Given the description of an element on the screen output the (x, y) to click on. 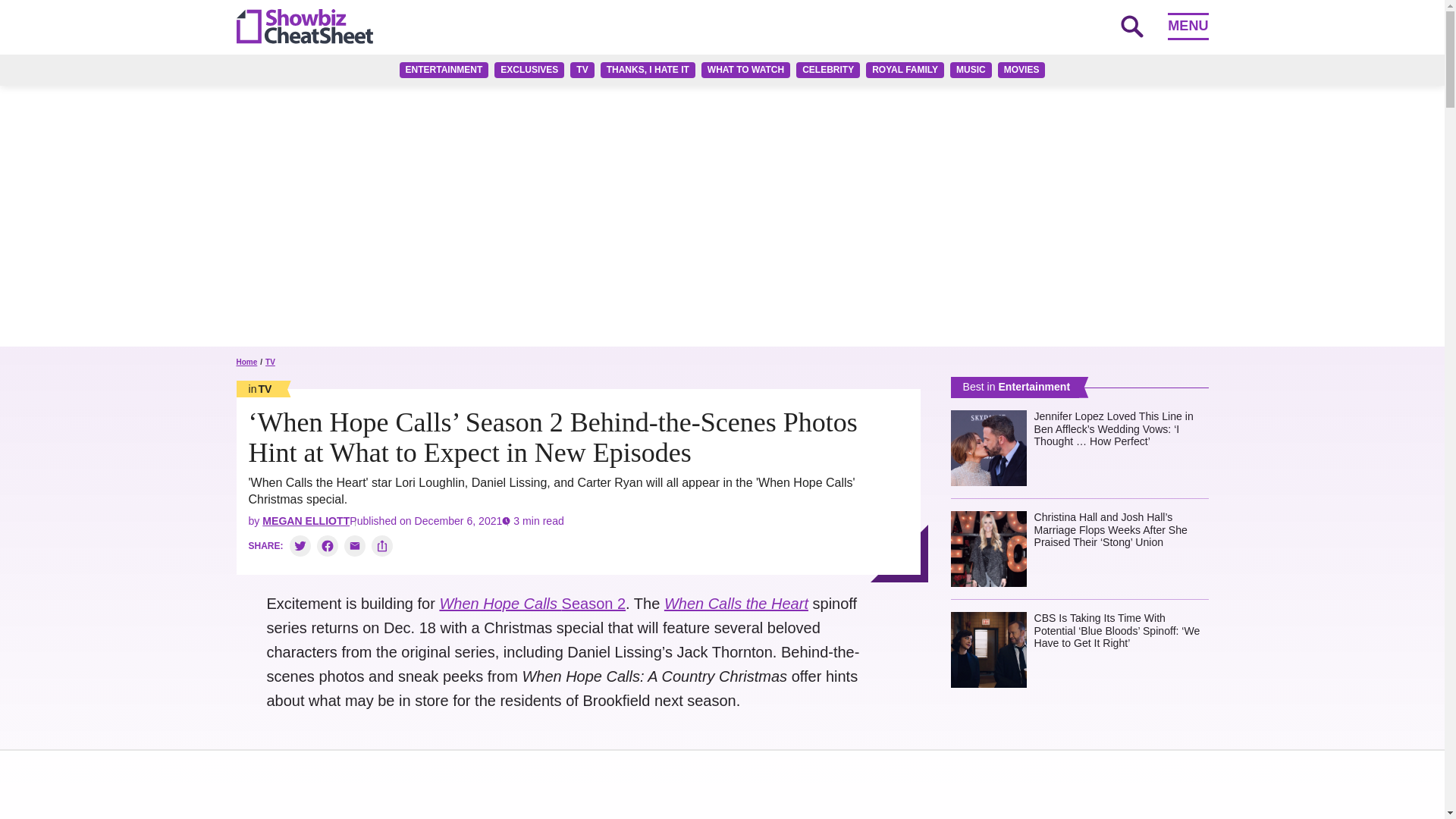
TV (582, 69)
Share on Facebook: (327, 545)
When Hope Calls Season 2 (532, 603)
MEGAN ELLIOTT (305, 521)
Copy link and share:  (382, 545)
EXCLUSIVES (529, 69)
THANKS, I HATE IT (647, 69)
Showbiz Cheat Sheet (303, 26)
WHAT TO WATCH (745, 69)
Share on Twitter: (300, 545)
MOVIES (1021, 69)
Expand Search (1131, 26)
MENU (1187, 26)
